Given the description of an element on the screen output the (x, y) to click on. 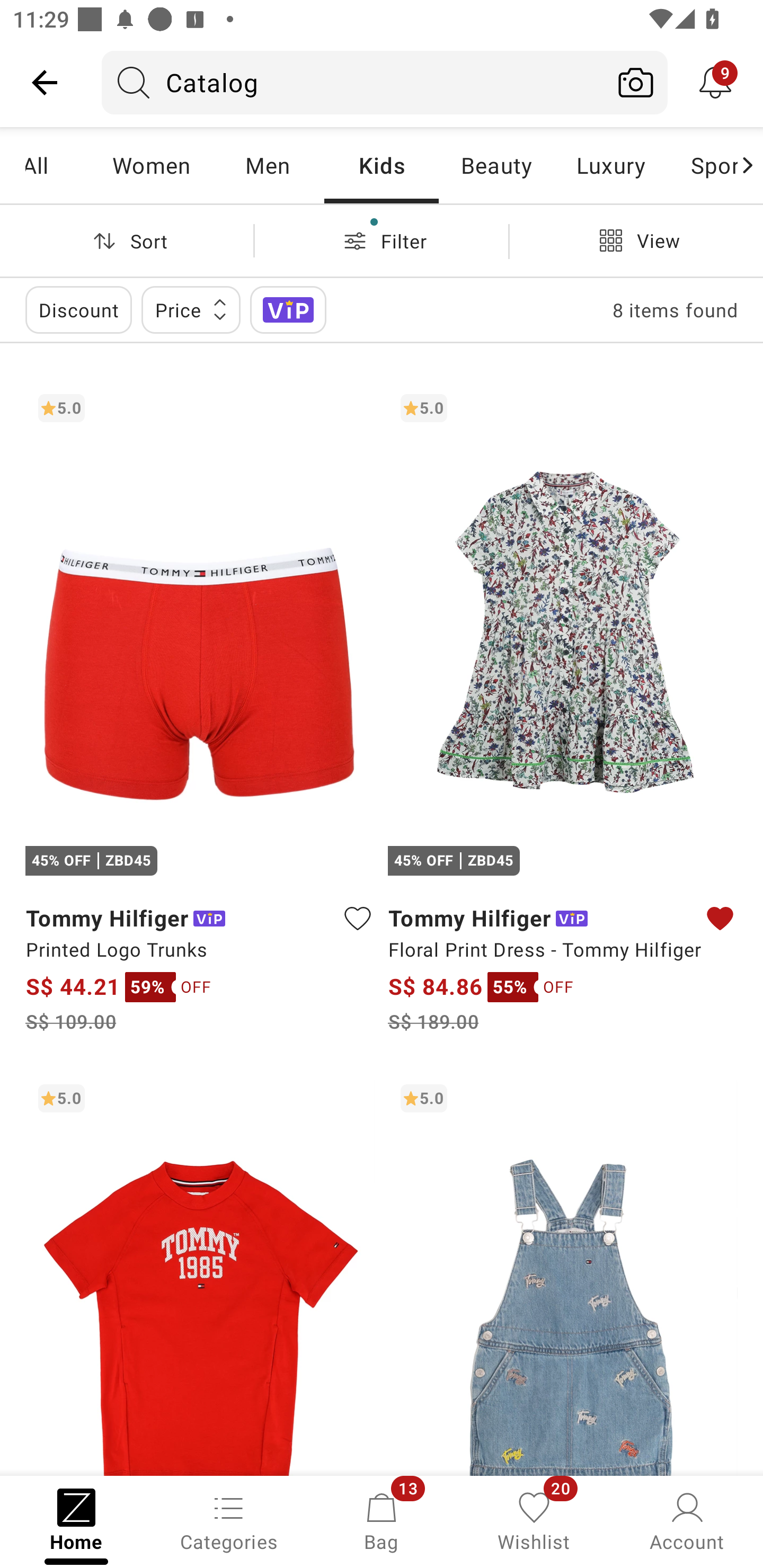
Navigate up (44, 82)
Catalog (352, 82)
All (59, 165)
Women (151, 165)
Men (266, 165)
Beauty (495, 165)
Luxury (610, 165)
Sort (126, 240)
Filter (381, 240)
View (636, 240)
Discount (78, 309)
Price (190, 309)
5.0 (200, 1272)
5.0 (562, 1272)
Categories (228, 1519)
Bag, 13 new notifications Bag (381, 1519)
Wishlist, 20 new notifications Wishlist (533, 1519)
Account (686, 1519)
